Given the description of an element on the screen output the (x, y) to click on. 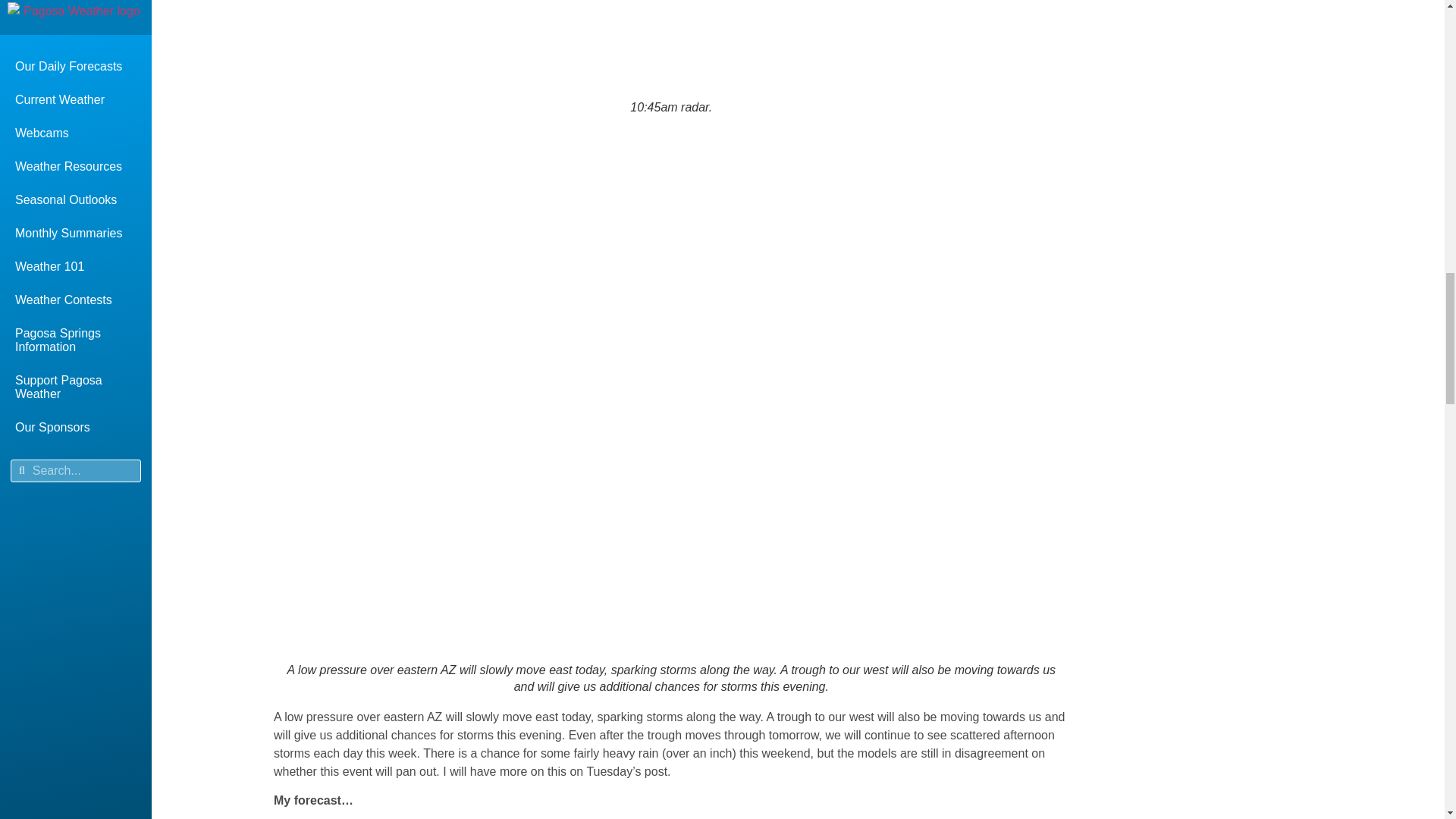
Could get a bit stormy this afternoon... 3 (661, 46)
